Given the description of an element on the screen output the (x, y) to click on. 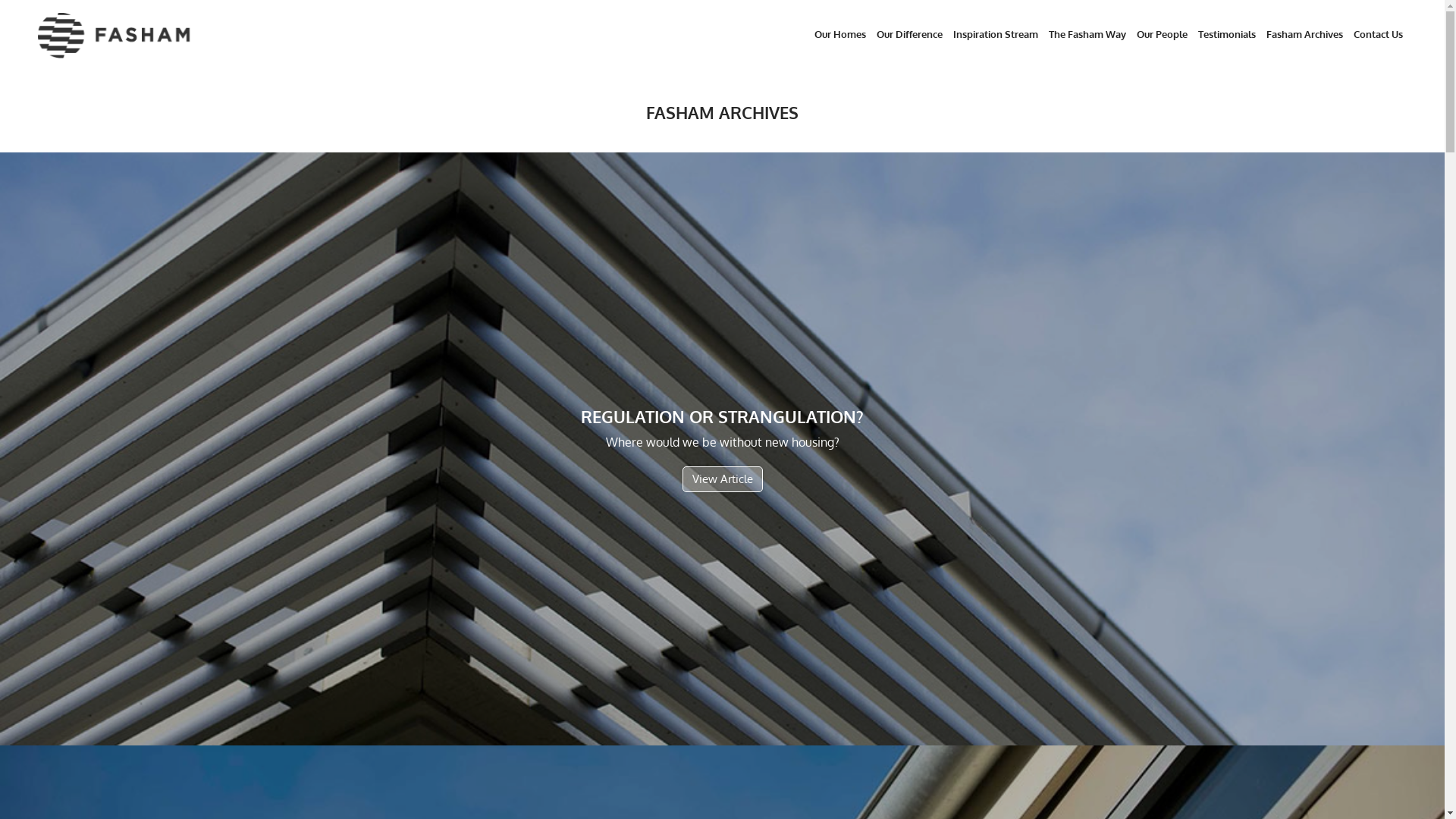
Fasham Homes Element type: text (193, 37)
Contact Us Element type: text (1377, 35)
Inspiration Stream Element type: text (995, 35)
Our Difference Element type: text (909, 35)
The Fasham Way Element type: text (1087, 35)
Our Homes Element type: text (840, 35)
Testimonials Element type: text (1226, 35)
Skip to content Element type: text (0, 0)
Our People Element type: text (1161, 35)
View Article Element type: text (722, 479)
Fasham Archives Element type: text (1304, 35)
